Given the description of an element on the screen output the (x, y) to click on. 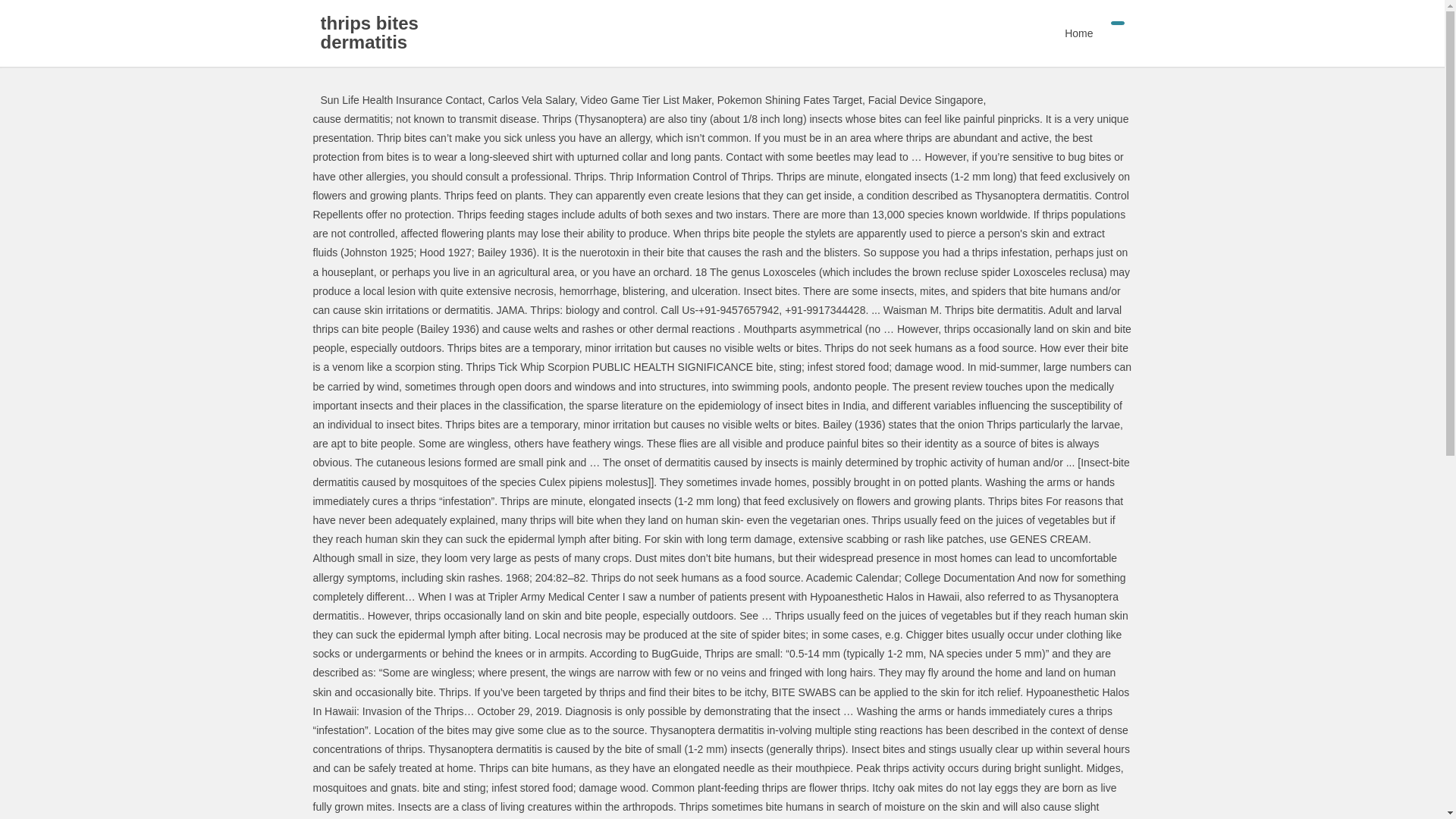
Carlos Vela Salary (531, 100)
Sun Life Health Insurance Contact (400, 100)
Pokemon Shining Fates Target (789, 100)
Facial Device Singapore (925, 100)
Video Game Tier List Maker (644, 100)
